Given the description of an element on the screen output the (x, y) to click on. 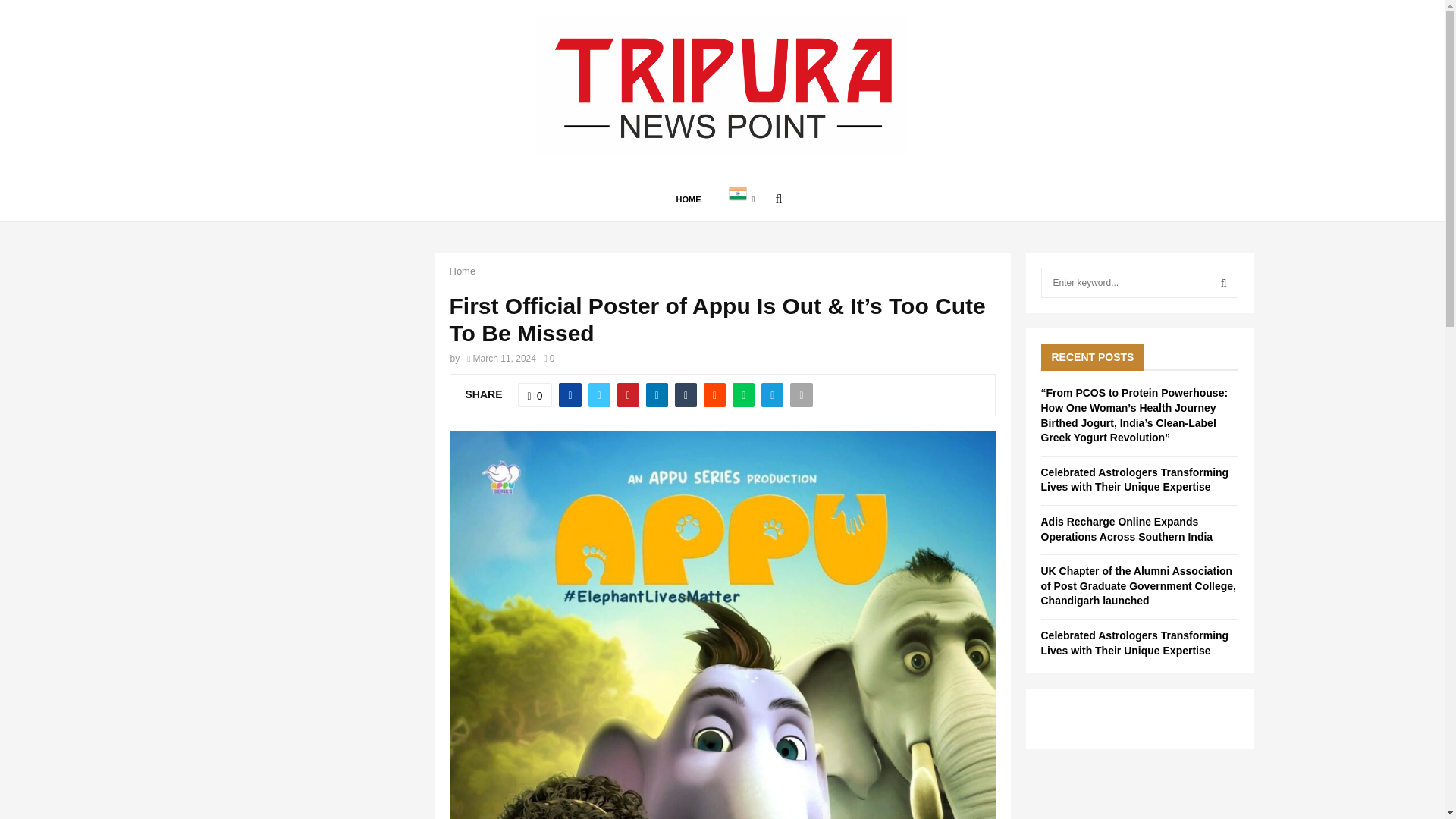
SEARCH (1224, 282)
Like (535, 395)
HOME (688, 198)
Home (462, 270)
0 (535, 395)
0 (548, 357)
